Given the description of an element on the screen output the (x, y) to click on. 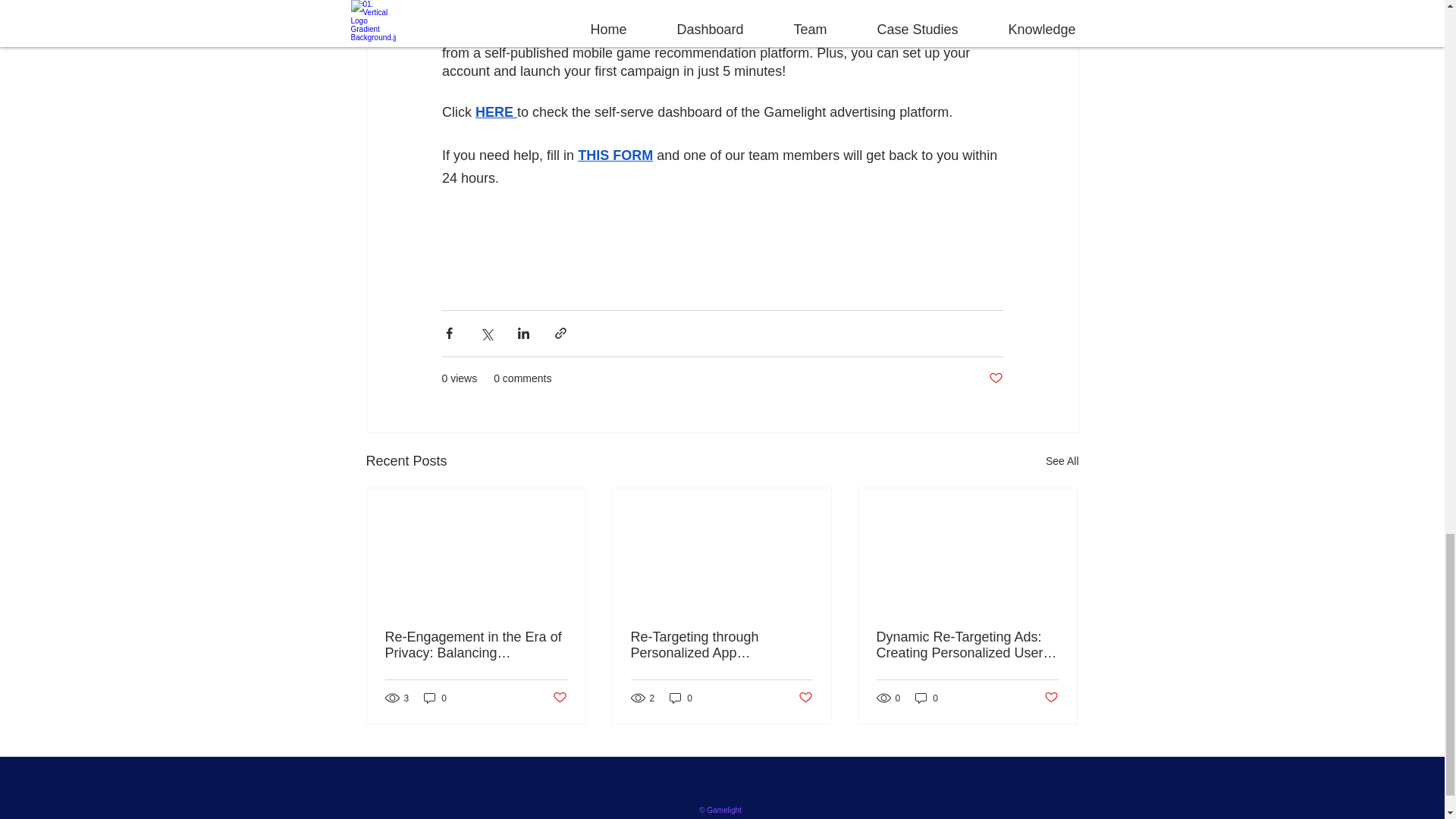
HERE (494, 111)
0 (435, 698)
0 (926, 698)
Post not marked as liked (995, 378)
Post not marked as liked (558, 697)
0 (681, 698)
Post not marked as liked (1050, 697)
Post not marked as liked (804, 697)
See All (1061, 461)
THIS FORM (615, 155)
